Given the description of an element on the screen output the (x, y) to click on. 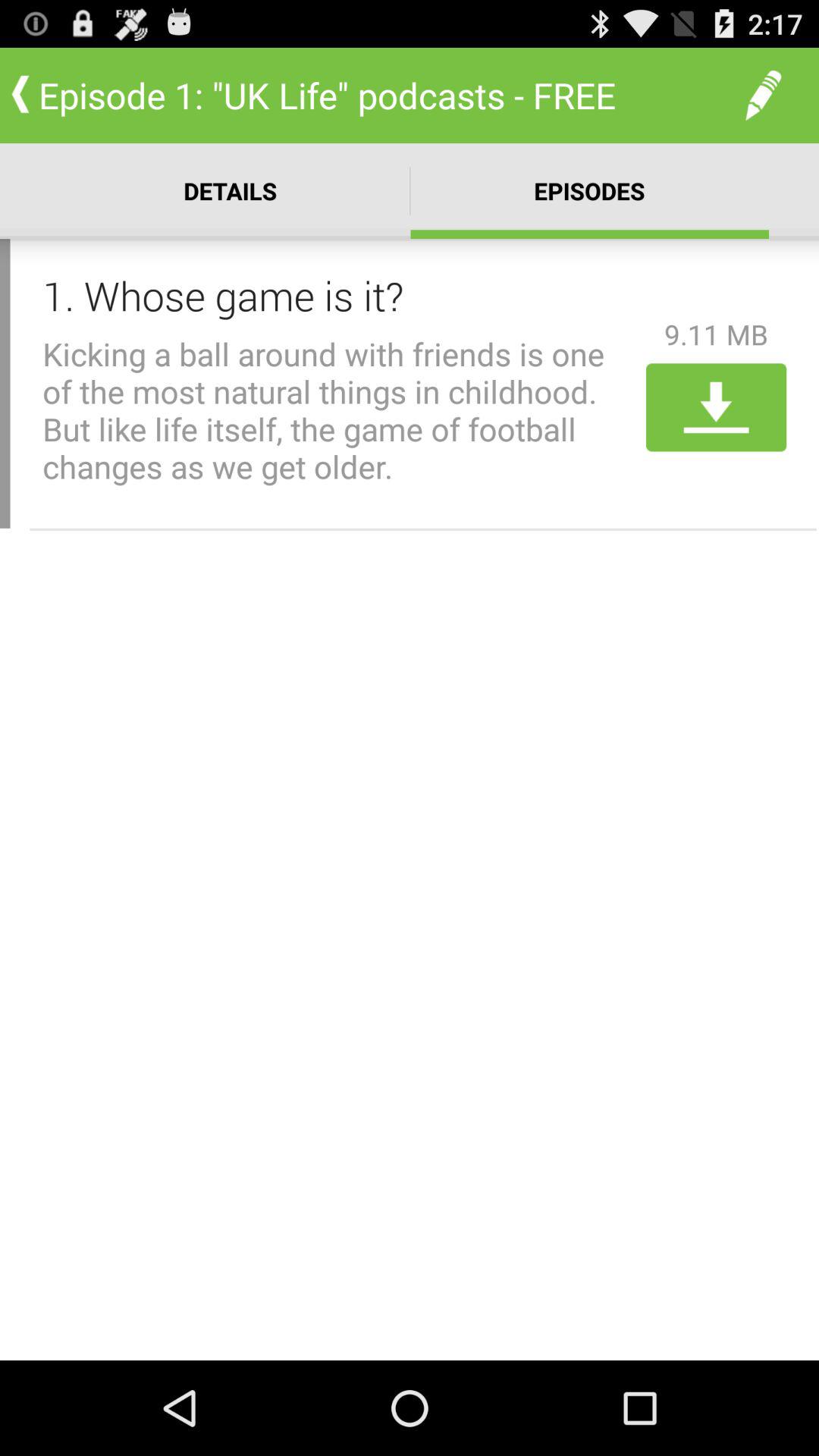
scroll until 9.11 mb app (716, 334)
